Given the description of an element on the screen output the (x, y) to click on. 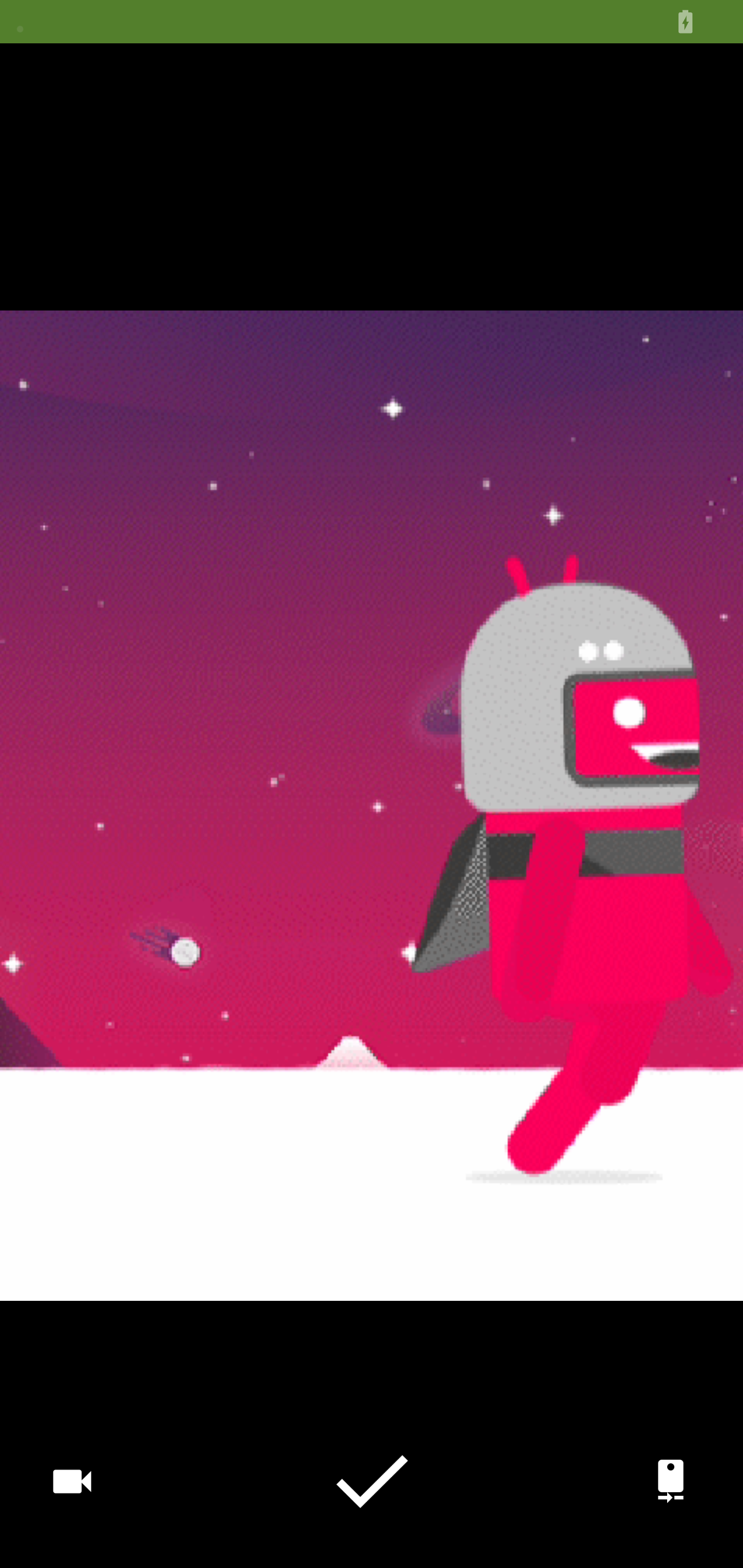
Take picture (371, 1480)
Capture video (71, 1480)
Switch between front and back camera (670, 1480)
